Given the description of an element on the screen output the (x, y) to click on. 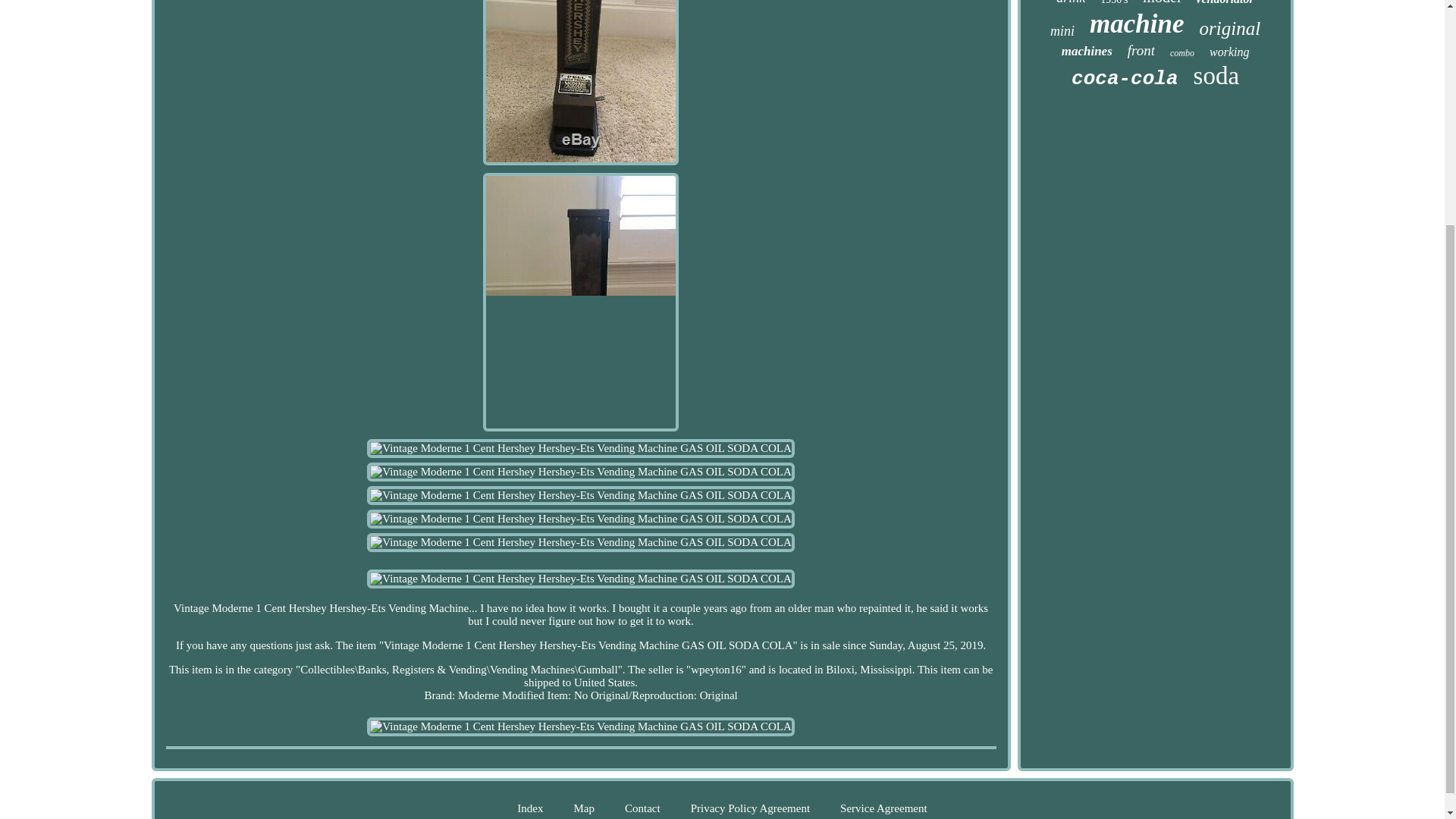
vendorlator (1224, 2)
mini (1061, 31)
machine (1136, 24)
model (1161, 2)
